Given the description of an element on the screen output the (x, y) to click on. 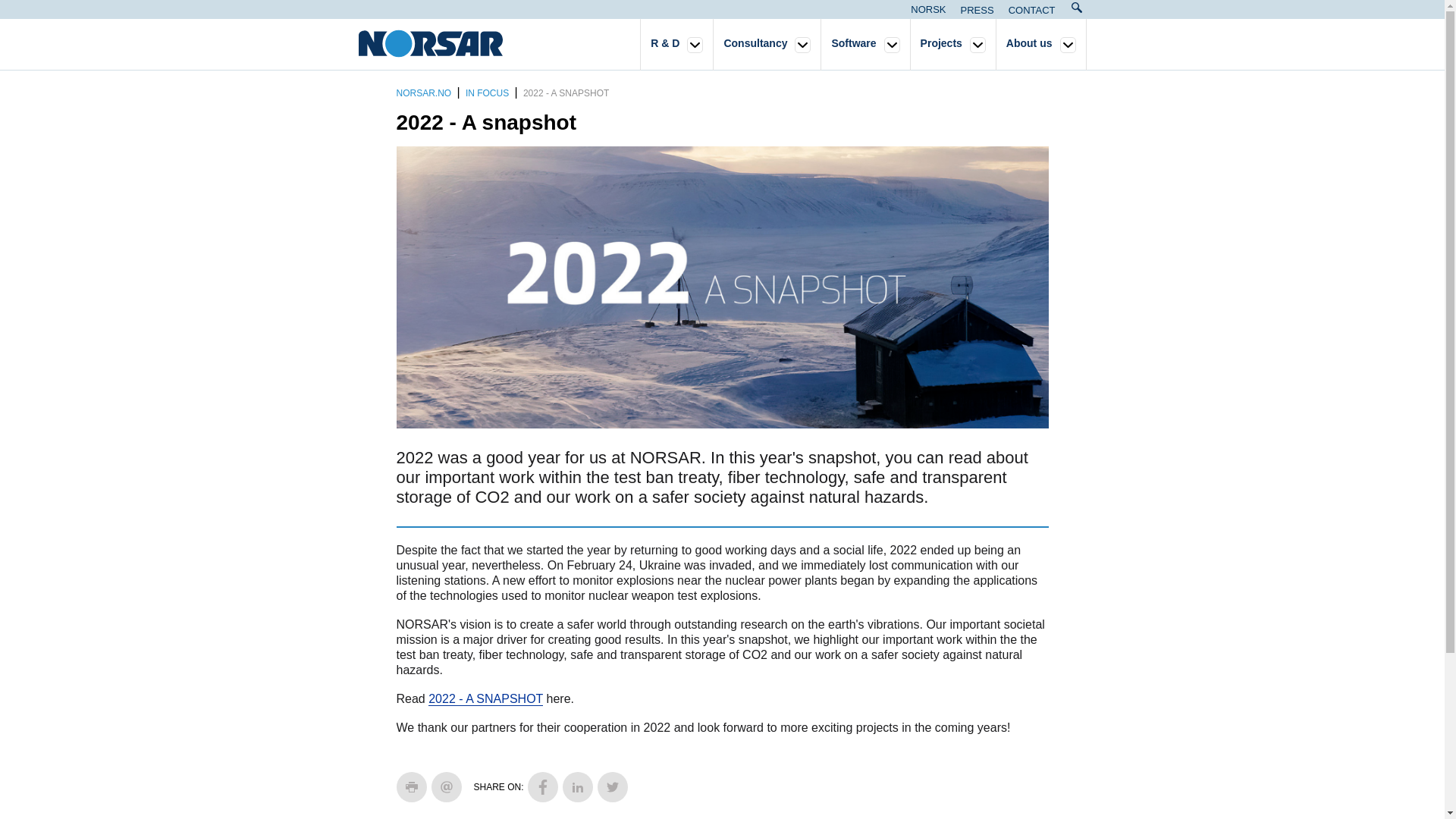
Projects (941, 44)
Software (853, 44)
NORSK (927, 9)
About us (1029, 44)
CONTACT (1032, 9)
Consultancy (755, 44)
PRESS (977, 9)
